Given the description of an element on the screen output the (x, y) to click on. 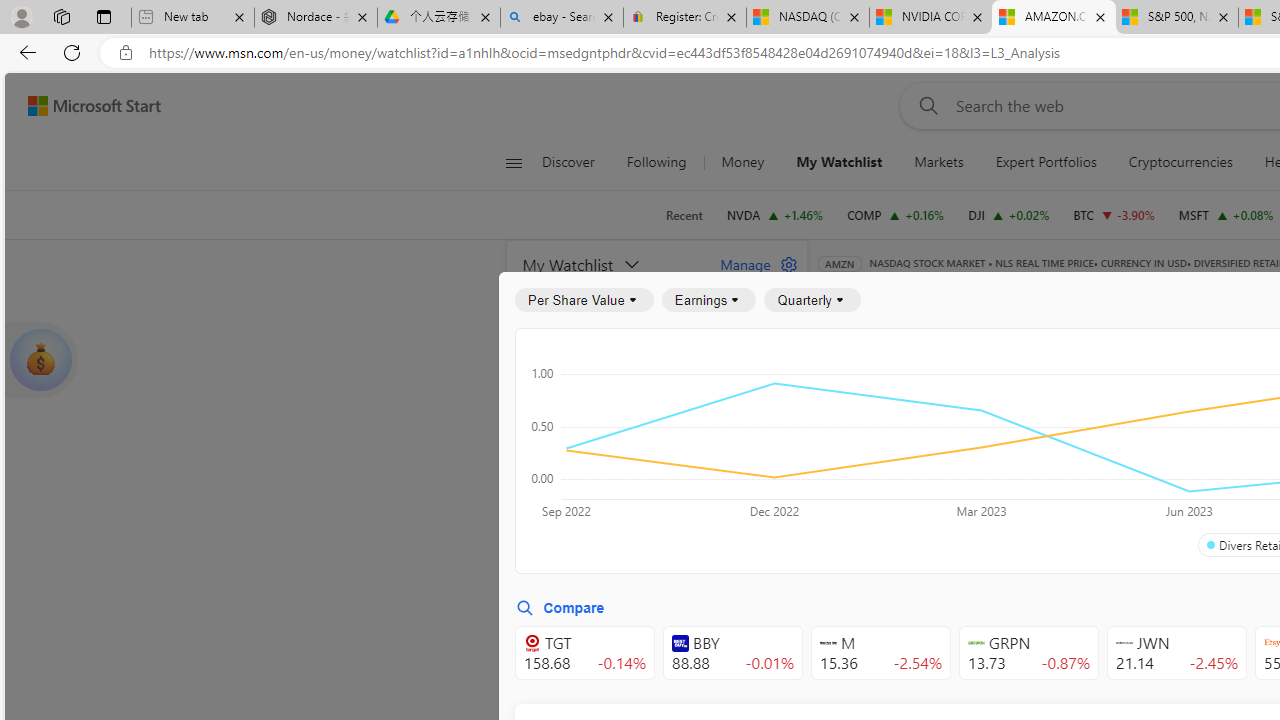
Annual (865, 503)
Markets (938, 162)
Markets (939, 162)
COMP NASDAQ increase 17,754.82 +29.06 +0.16% (895, 214)
Earnings (708, 300)
Key Ratios (867, 391)
Class: autoSuggestIcon-DS-EntryPoint1-2 (1124, 643)
Manage (751, 264)
add to your watchlist (786, 680)
